Given the description of an element on the screen output the (x, y) to click on. 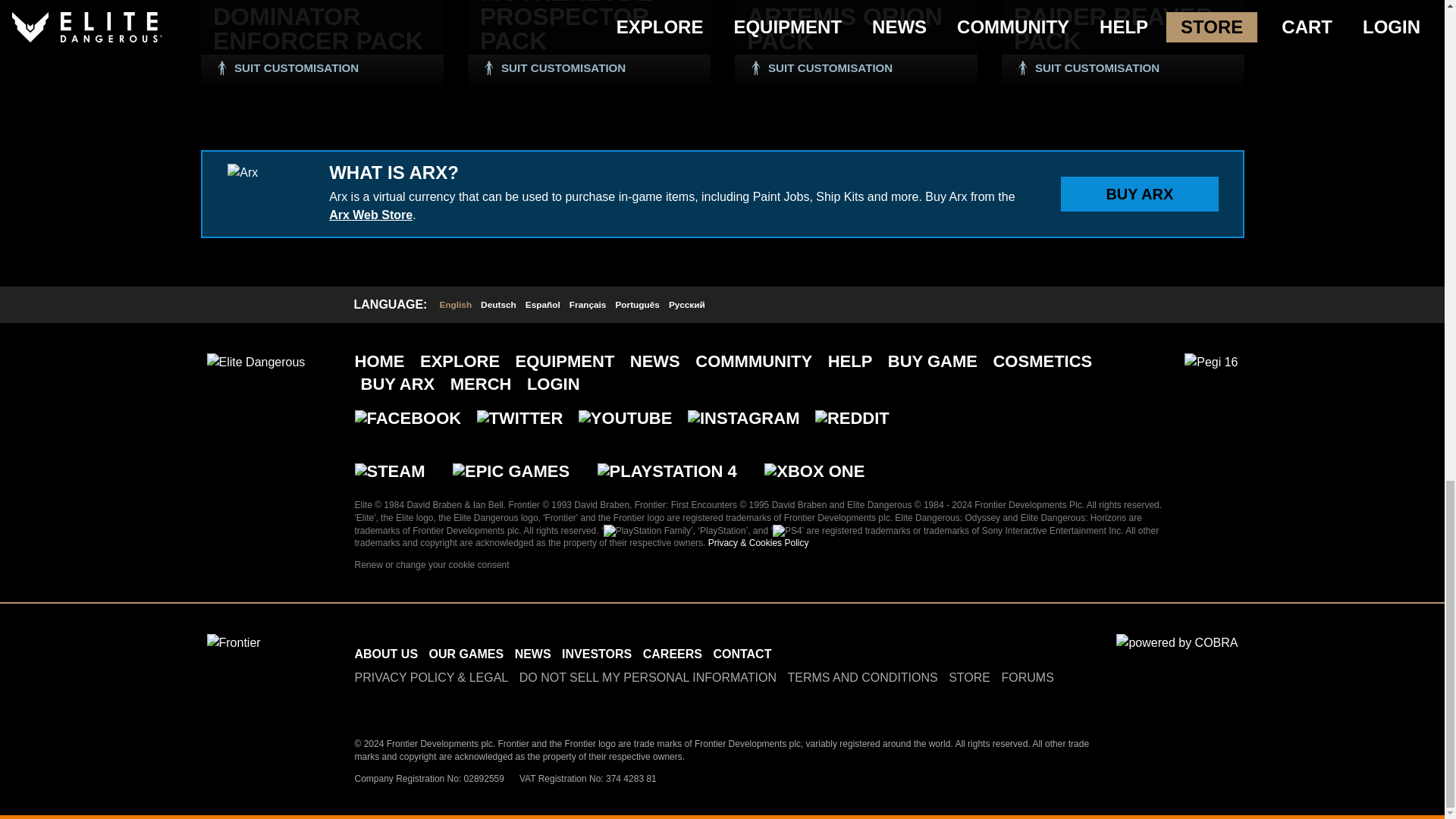
Follow us on Twitter (388, 700)
Social Youtube (625, 417)
Social Instagram (743, 417)
Social Facebook (408, 417)
Like us on Facebook (362, 700)
Visit Frontier.co.uk (260, 656)
Subscribe on YouTube (414, 700)
Social Twitter (520, 417)
Social Reddit (852, 417)
Connect with us on LinkedIn (440, 700)
